Given the description of an element on the screen output the (x, y) to click on. 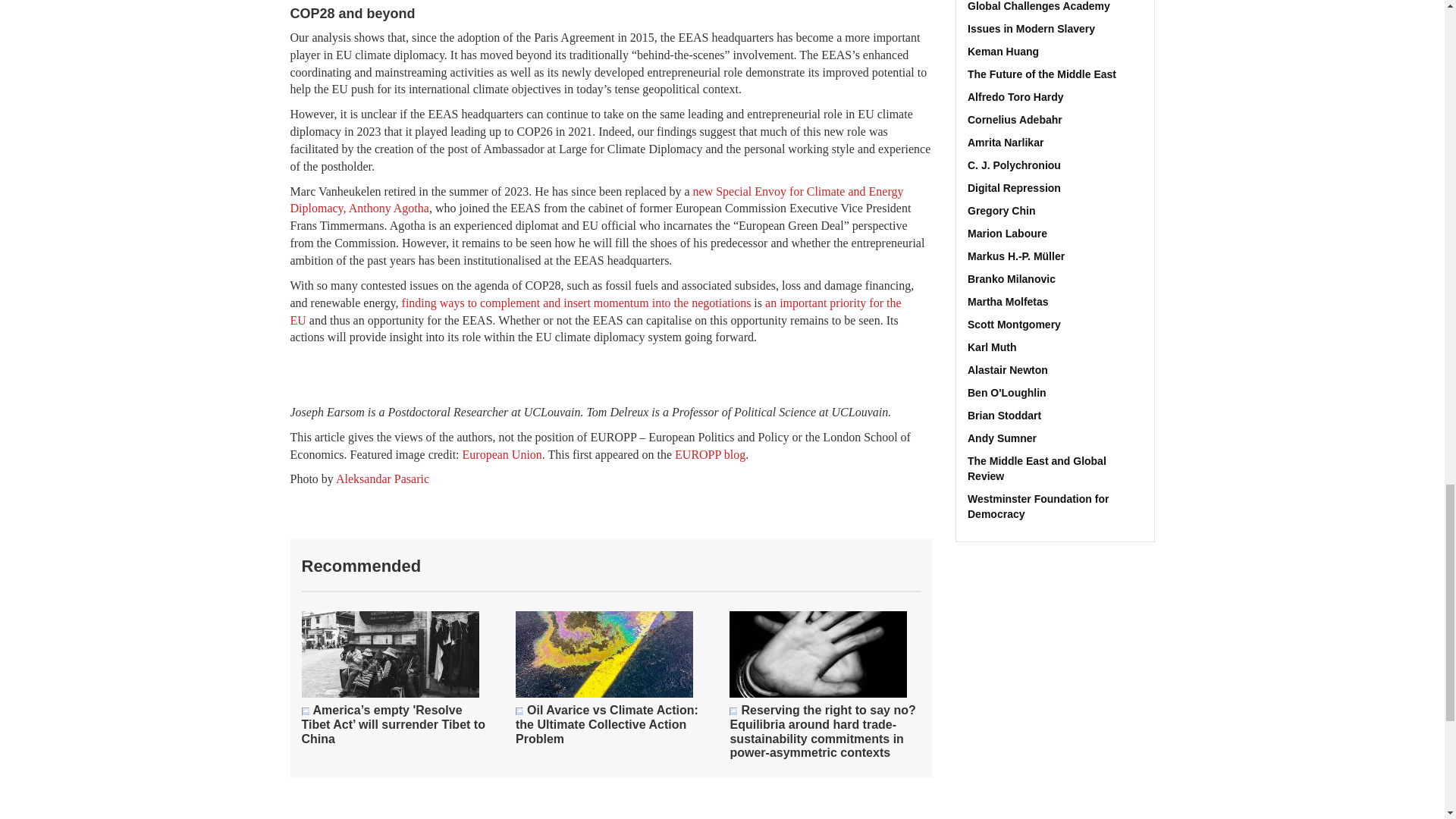
View user profile. (1055, 29)
Recycle symbol of three arrows (732, 710)
Recycle symbol of three arrows (518, 710)
View user profile. (1055, 7)
Weight scale (304, 710)
